Given the description of an element on the screen output the (x, y) to click on. 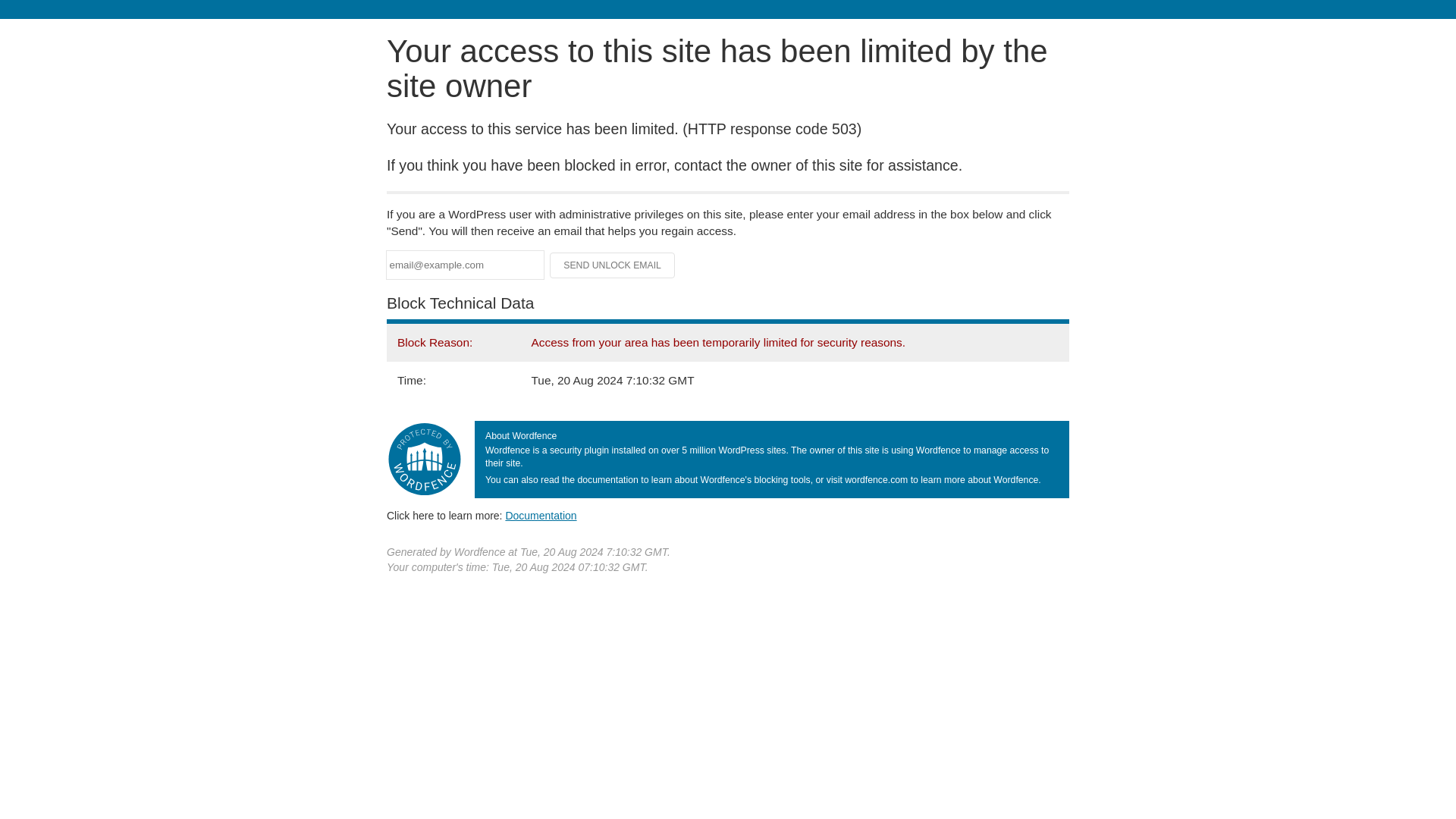
Documentation (540, 515)
Send Unlock Email (612, 265)
Send Unlock Email (612, 265)
